Given the description of an element on the screen output the (x, y) to click on. 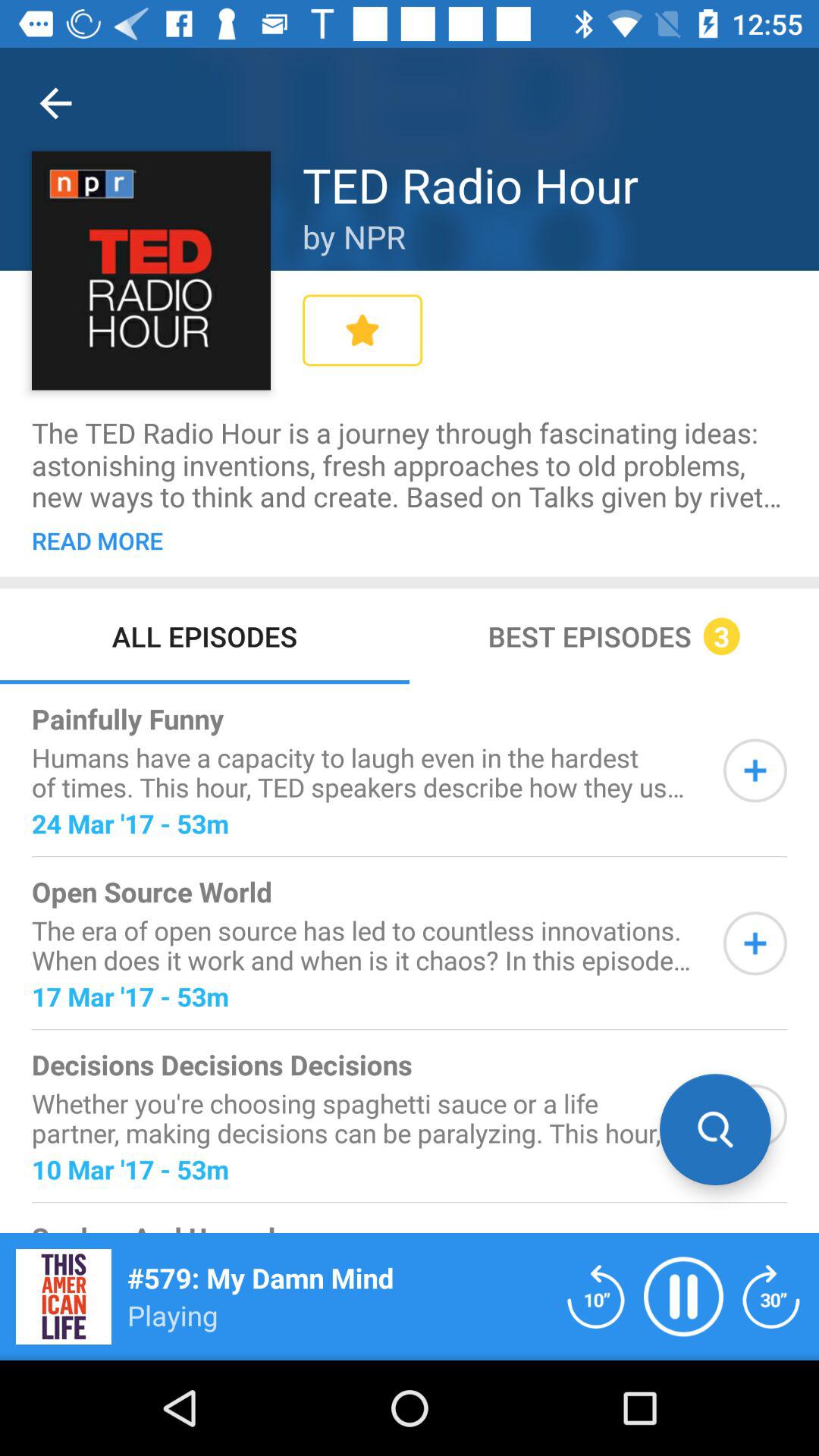
tap the item next to the decisions decisions decisions icon (715, 1129)
